Given the description of an element on the screen output the (x, y) to click on. 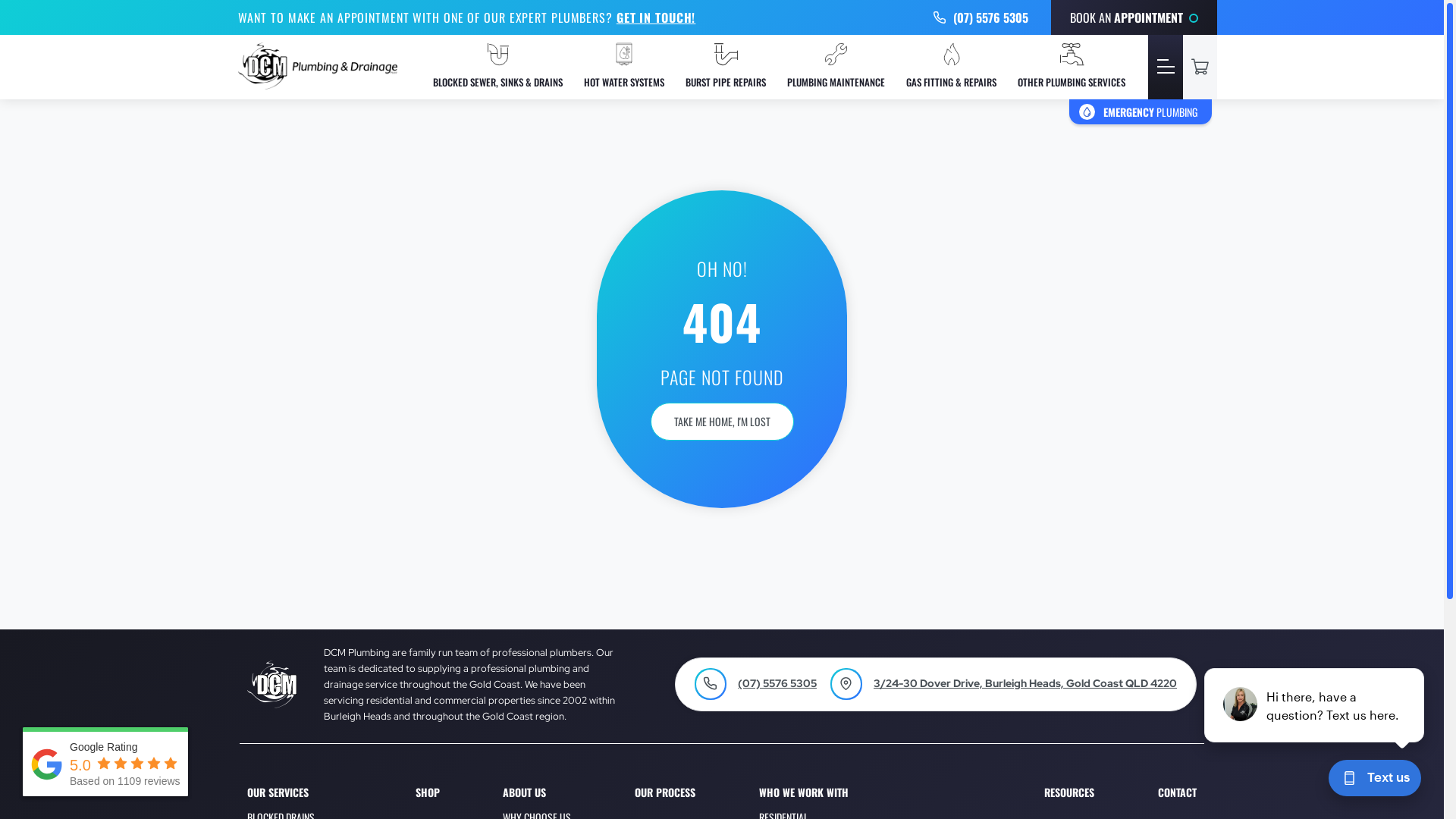
HOT WATER SYSTEMS Element type: text (623, 66)
CONTACT Element type: text (1176, 793)
TAKE ME HOME, I'M LOST Element type: text (721, 421)
DCM Plumbing Element type: hover (317, 85)
GAS FITTING & REPAIRS Element type: text (951, 66)
BOOK AN APPOINTMENT Element type: text (1134, 17)
PLUMBING MAINTENANCE Element type: text (835, 66)
View your cart Element type: hover (1200, 66)
UICO-PHONE
(07) 5576 5305 Element type: text (980, 17)
RESOURCES Element type: text (1069, 793)
GET IN TOUCH! Element type: text (656, 17)
OUR PROCESS Element type: text (664, 793)
BLOCKED SEWER, SINKS & DRAINS Element type: text (497, 66)
EMERGENCY PLUMBING Element type: text (1140, 111)
(07) 5576 5305 Element type: text (776, 683)
podium webchat widget prompt Element type: hover (1314, 705)
3/24-30 Dover Drive, Burleigh Heads, Gold Coast QLD 4220 Element type: text (1024, 683)
SHOP Element type: text (427, 793)
